Given the description of an element on the screen output the (x, y) to click on. 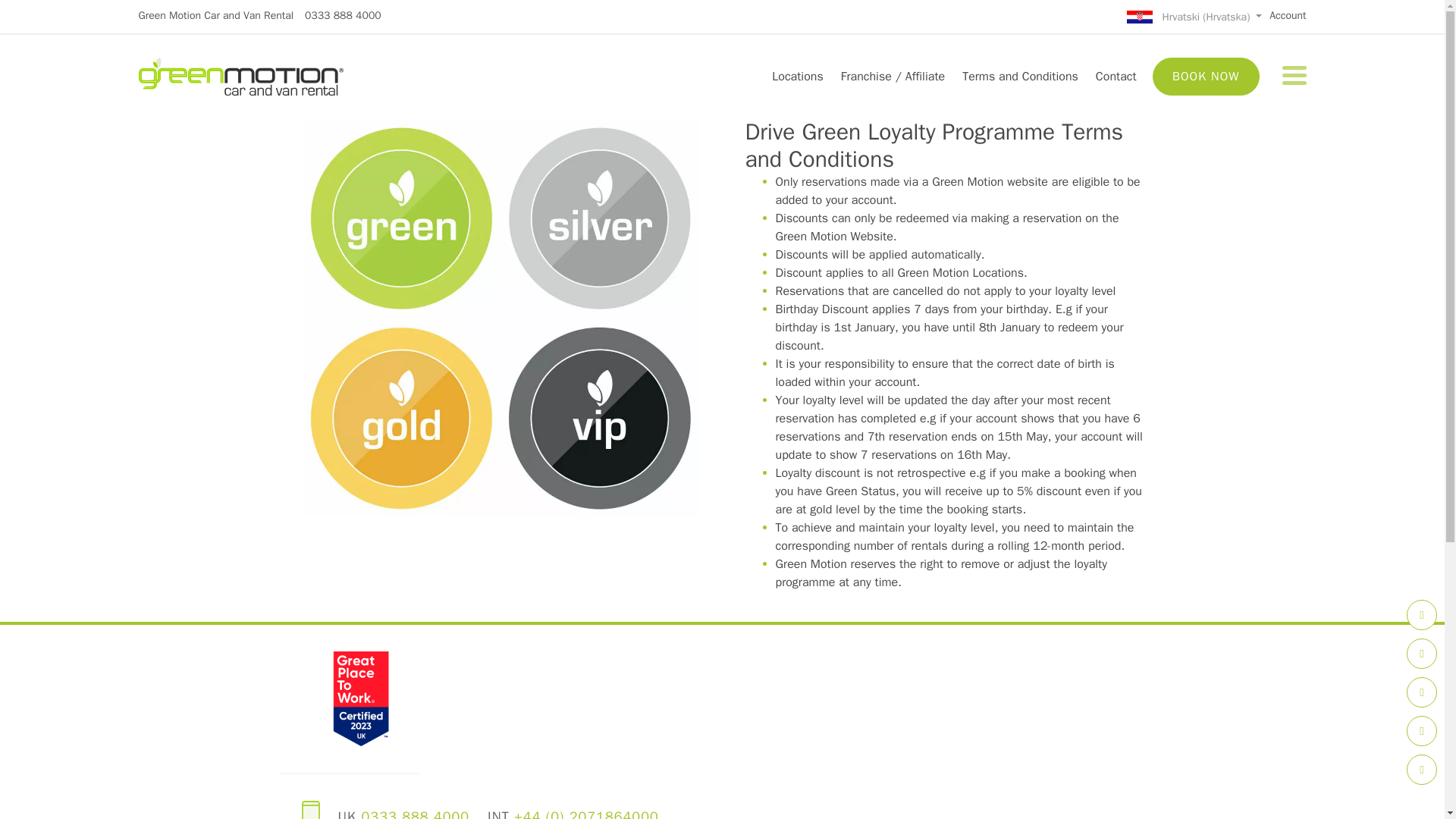
Account (1287, 15)
Locations (796, 76)
Terms and Conditions (1020, 76)
Green Motion Car and Van Rental (216, 15)
Contact (1115, 76)
BOOK NOW (1205, 76)
0333 888 4000 (342, 15)
